Given the description of an element on the screen output the (x, y) to click on. 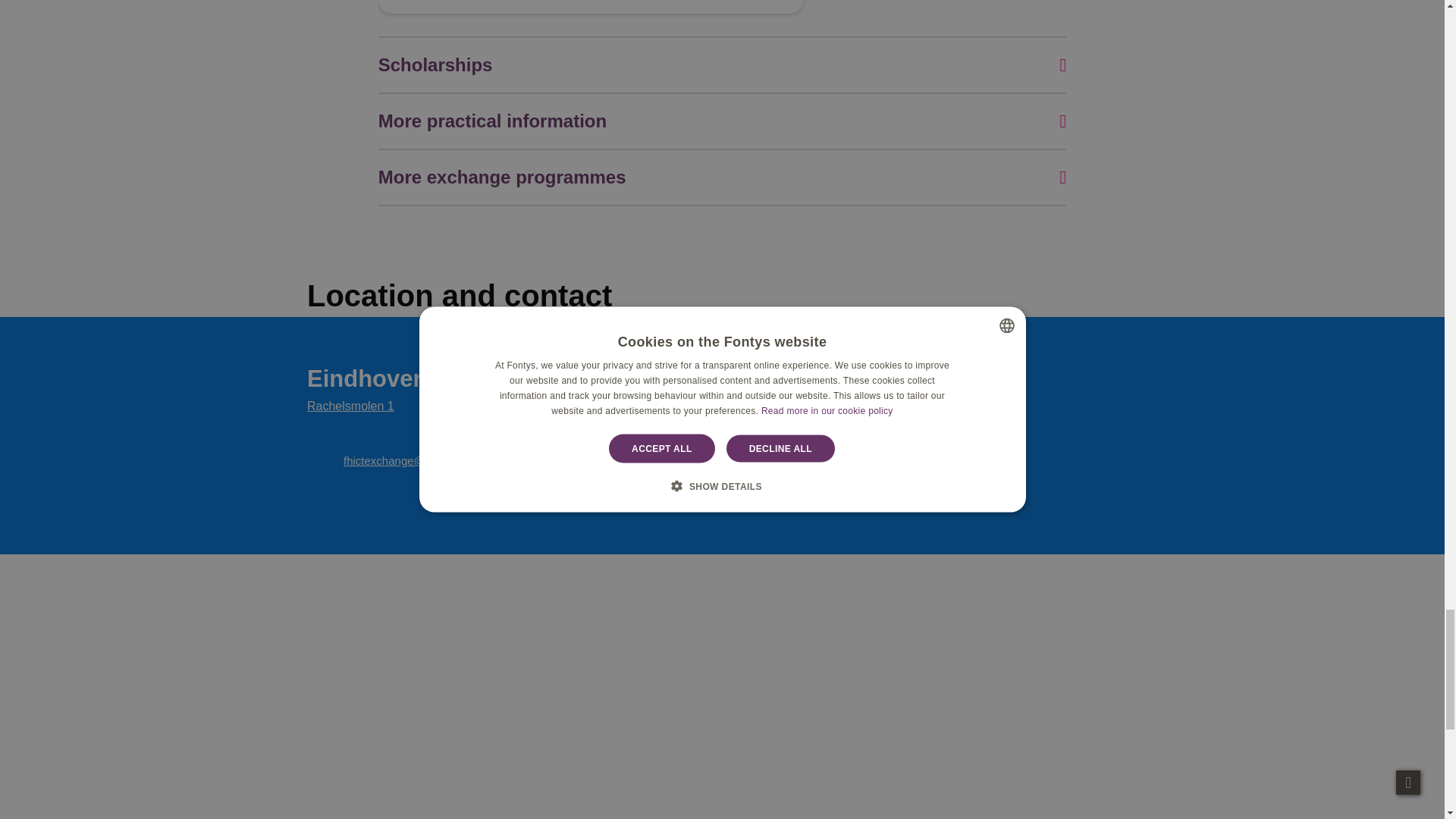
Rachelsmolen 1 (350, 405)
Scholarships (721, 64)
More exchange programmes (721, 176)
More practical information (721, 121)
